Given the description of an element on the screen output the (x, y) to click on. 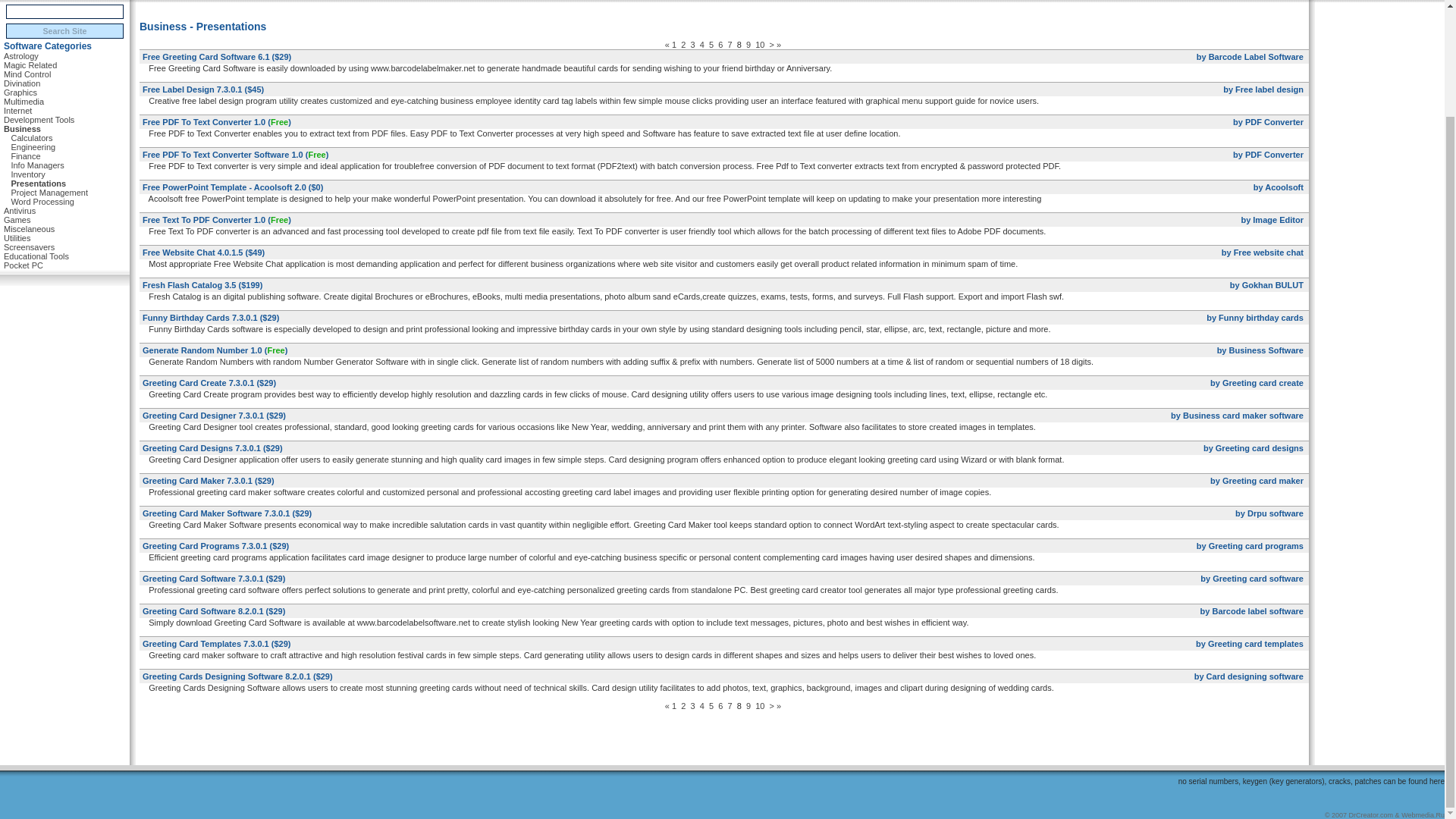
Antivirus (19, 210)
Utilities (17, 238)
Advertisement (724, 741)
Search Site (64, 30)
Games (17, 219)
Development Tools (39, 119)
Inventory (27, 174)
Educational Tools (36, 256)
Screensavers (29, 247)
Divination (22, 83)
Graphics (20, 92)
Advertisement (724, 7)
Search Site (64, 30)
Engineering (32, 147)
Business (22, 128)
